Given the description of an element on the screen output the (x, y) to click on. 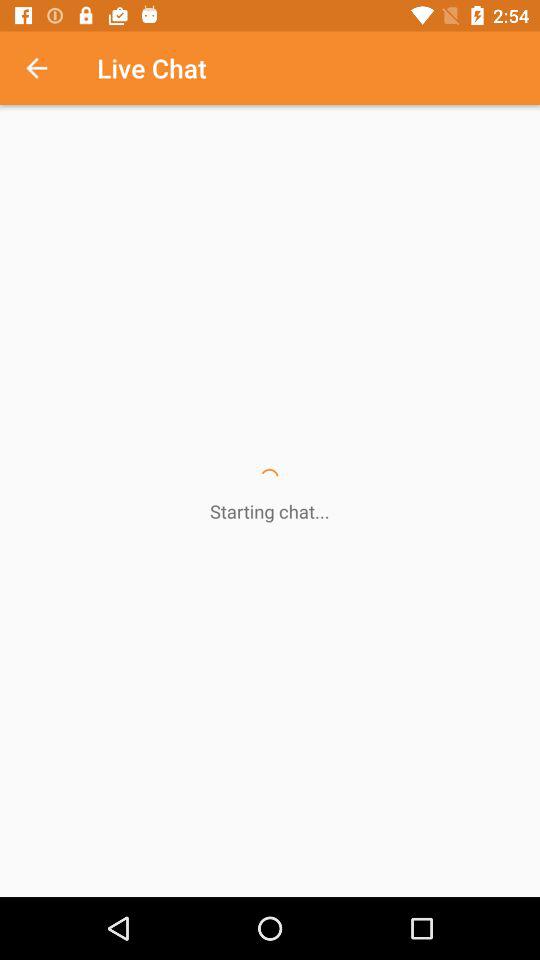
go to previous (47, 68)
